Given the description of an element on the screen output the (x, y) to click on. 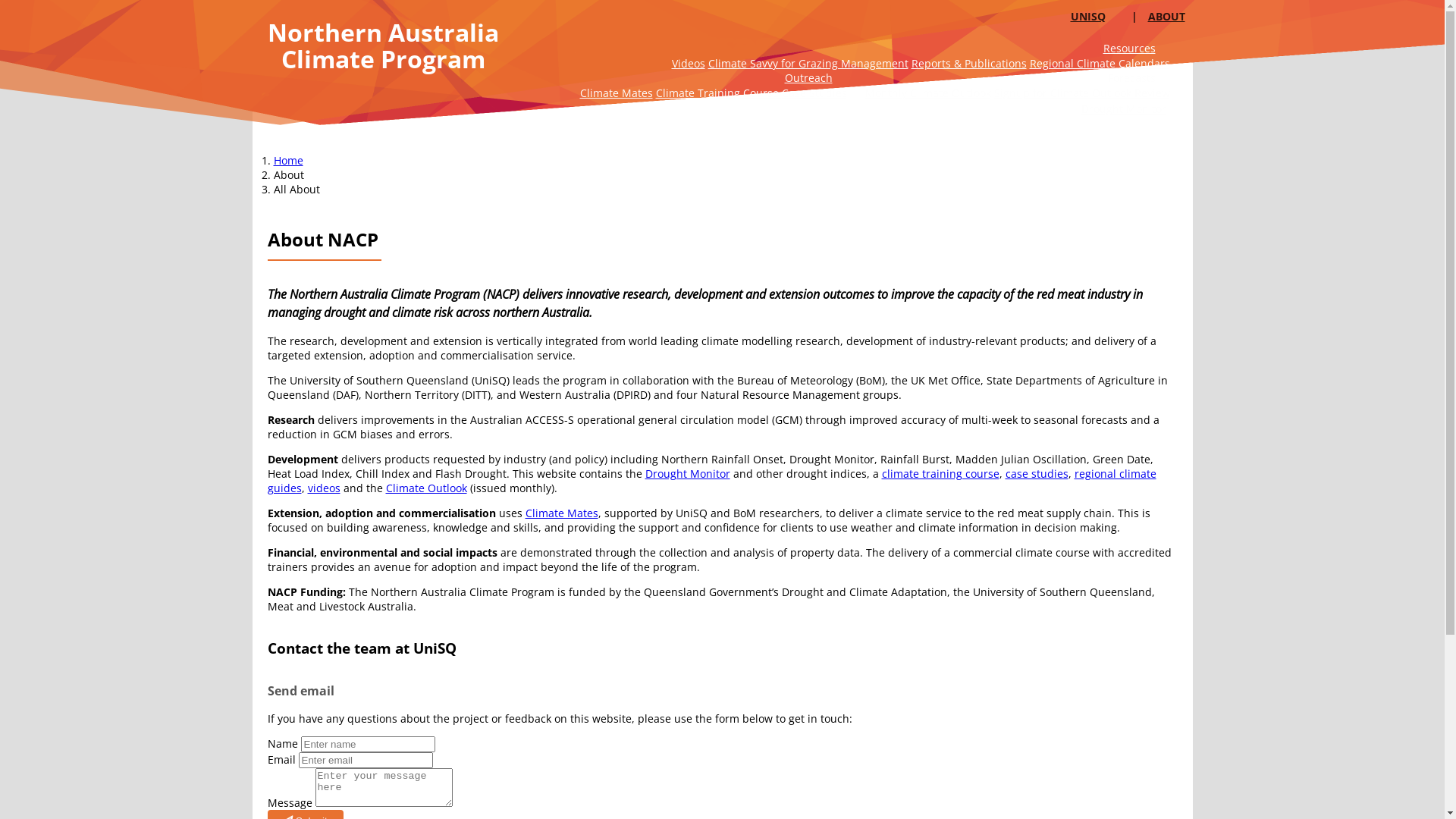
case studies Element type: text (1036, 473)
Forecasts Element type: text (1131, 77)
regional climate guides Element type: text (710, 480)
Toggle Dropdown Element type: text (842, 81)
Climate Savvy for Grazing Management Element type: text (808, 63)
Videos Element type: text (688, 63)
Climate Training Course Element type: text (718, 92)
Signup for Climate Outlook Review Element type: text (1081, 92)
climate training course Element type: text (939, 473)
Drought Monitor Element type: text (1122, 108)
Drought Monitor Element type: text (686, 473)
Resources Element type: text (1129, 48)
Monthly Climate Outlook Element type: text (927, 92)
Northern Australia
Climate Program Element type: text (382, 45)
Climate Mates Element type: text (615, 92)
Climate Mates Element type: text (560, 512)
Climate Outlook Element type: text (425, 487)
Toggle Dropdown Element type: text (1165, 81)
Reports & Publications Element type: text (968, 63)
videos Element type: text (323, 487)
Home Element type: text (287, 160)
ABOUT Element type: text (1166, 16)
Regional Climate Calendars Element type: text (1099, 63)
UNISQ Element type: text (1087, 16)
Outreach Element type: text (808, 77)
Case Studies Element type: text (813, 92)
Toggle Dropdown Element type: text (1165, 52)
